Given the description of an element on the screen output the (x, y) to click on. 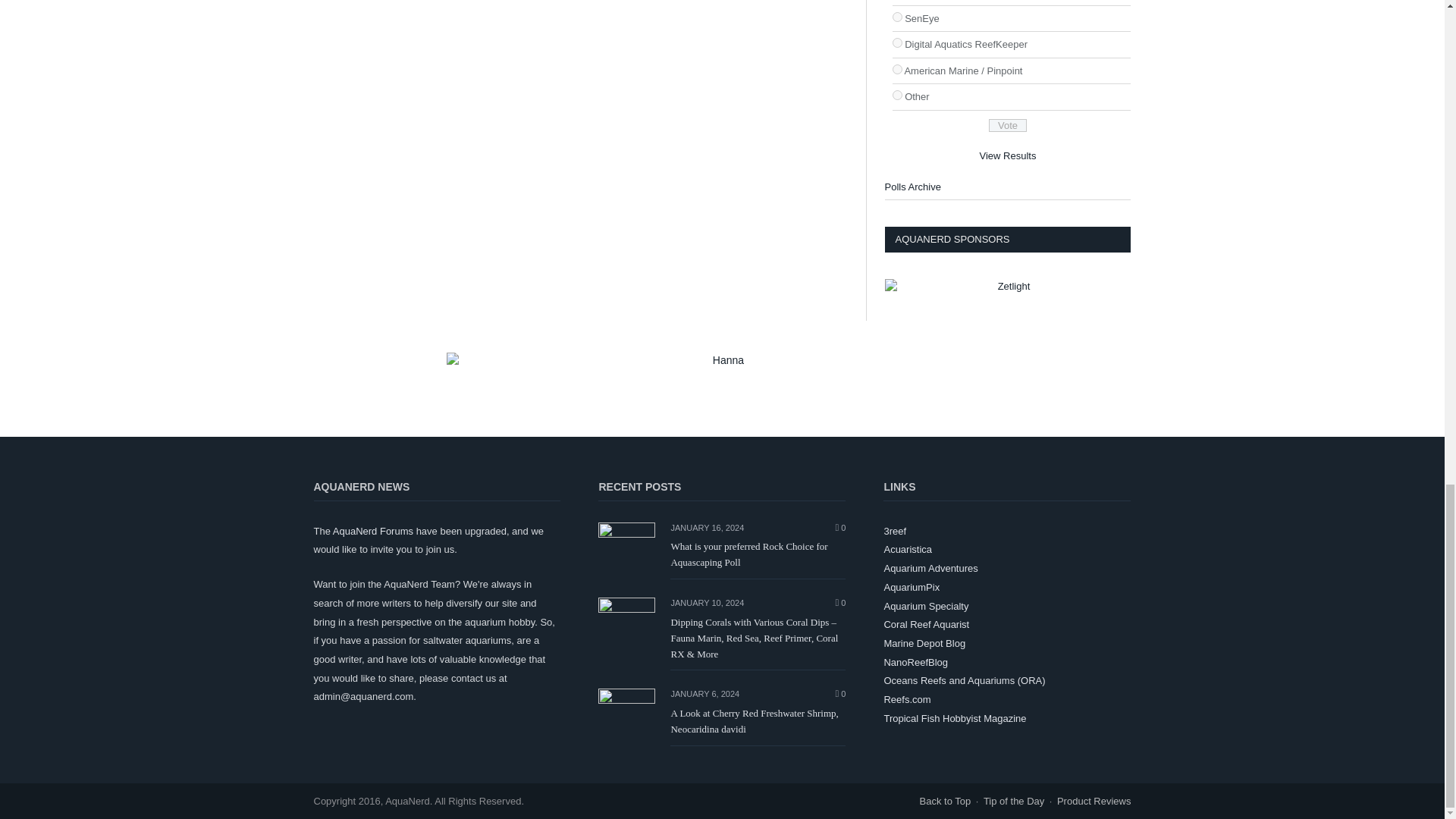
   Vote    (1007, 124)
79 (896, 94)
73 (896, 17)
71 (896, 69)
76 (896, 42)
